Given the description of an element on the screen output the (x, y) to click on. 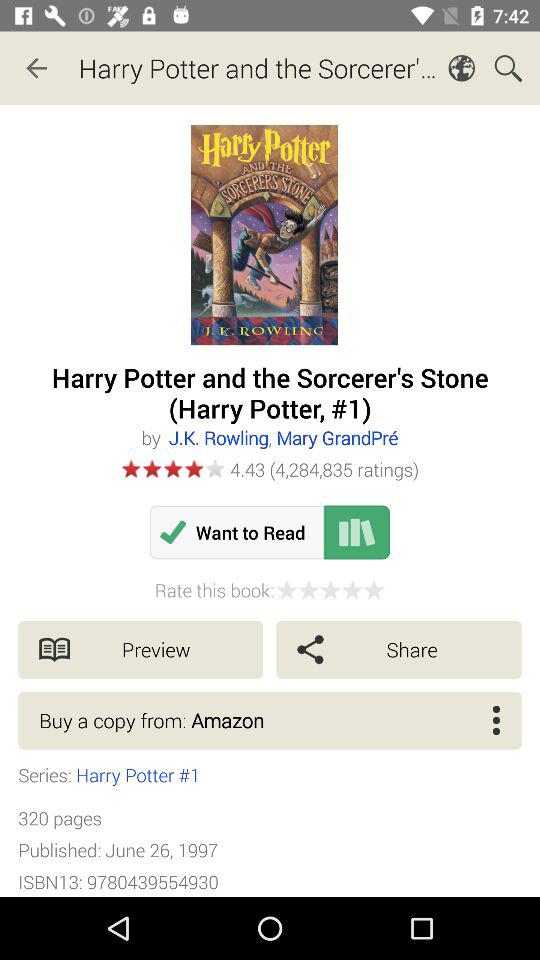
press item to the right of by item (282, 437)
